Given the description of an element on the screen output the (x, y) to click on. 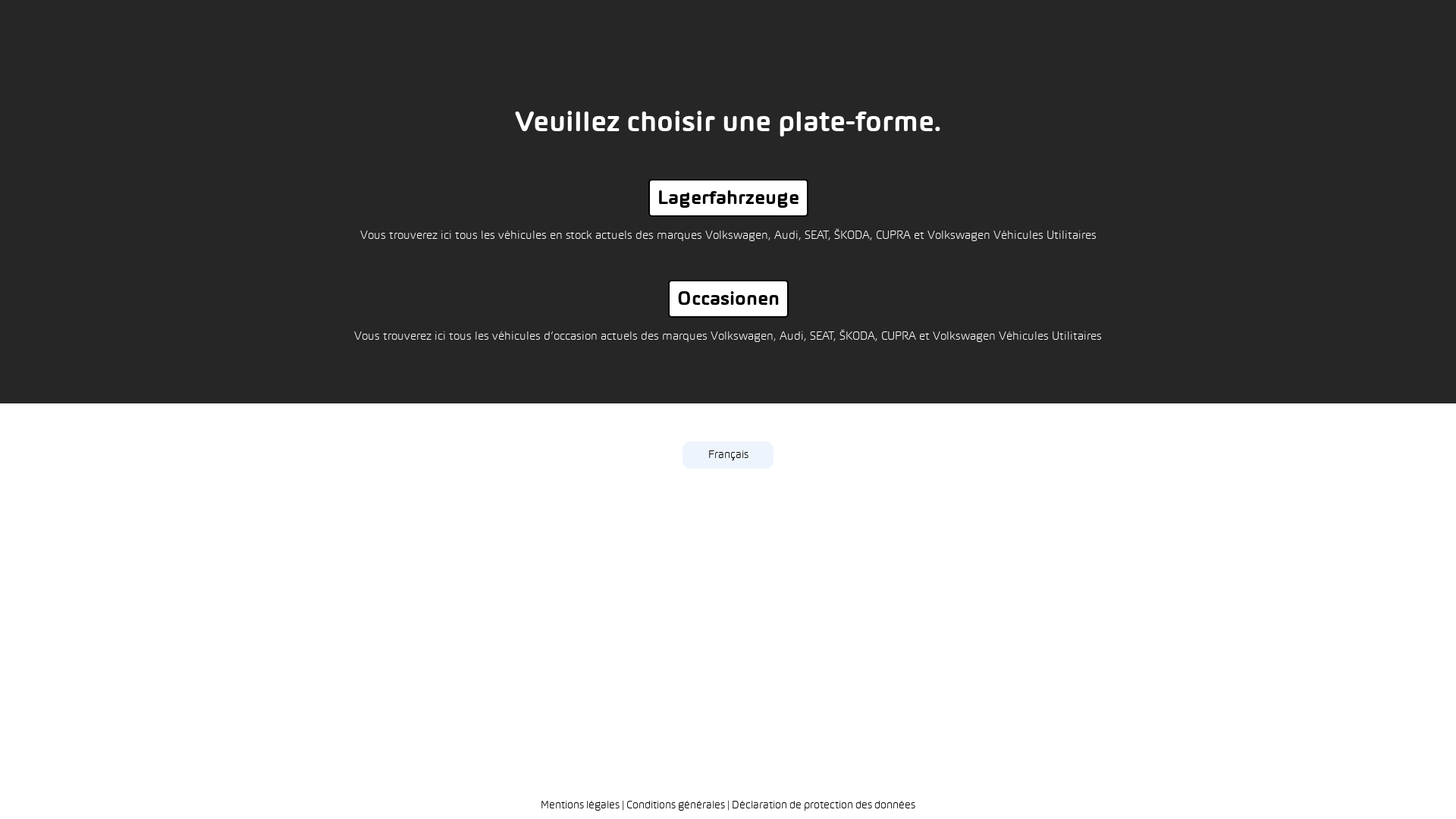
Lagerfahrzeuge Element type: text (727, 197)
Occasionen Element type: text (727, 298)
